Given the description of an element on the screen output the (x, y) to click on. 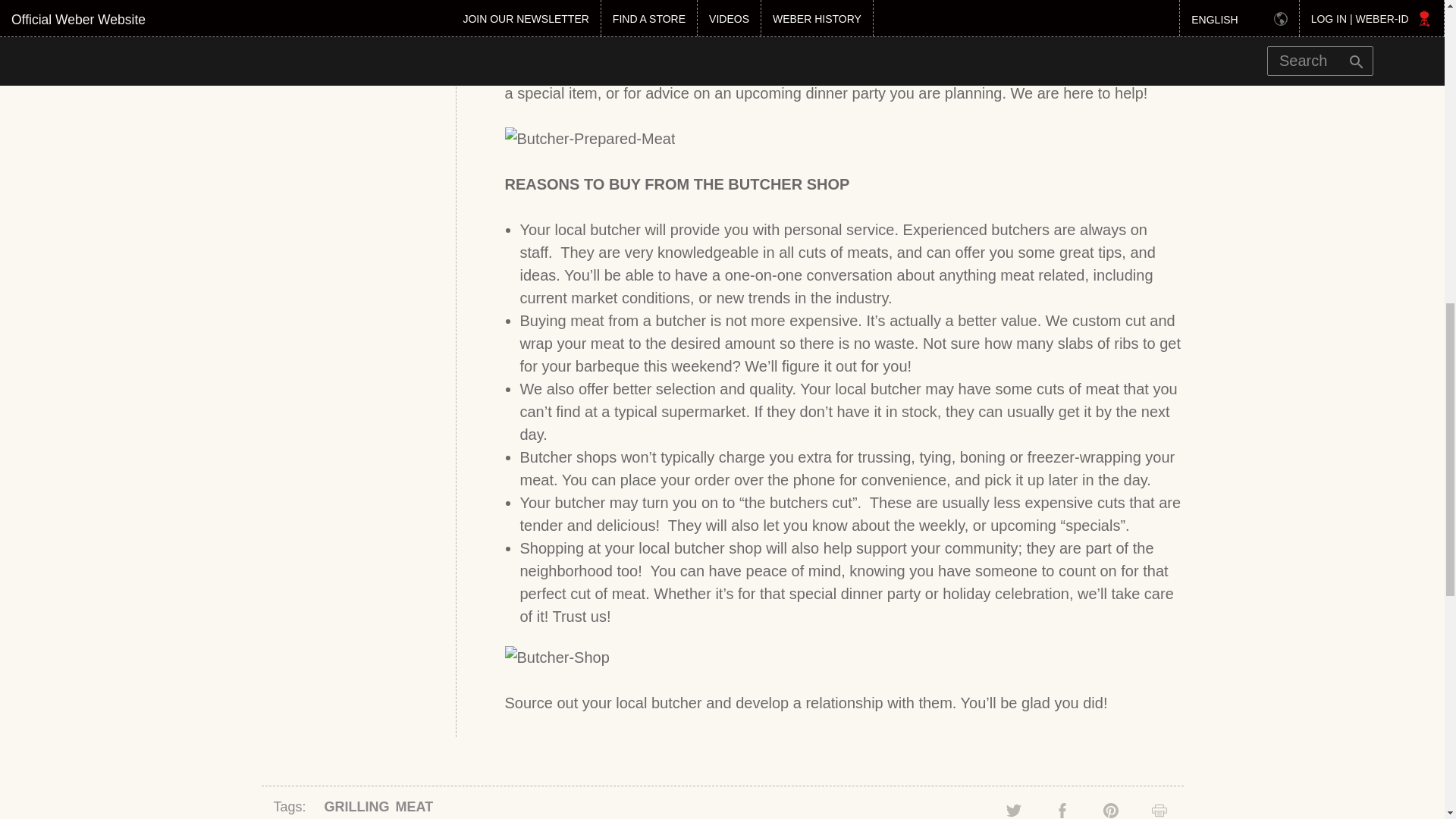
STORIES FROM ASIA (344, 12)
Facebook (1061, 810)
Pinterest (1110, 810)
Print (1158, 810)
Twitter (1013, 810)
